Given the description of an element on the screen output the (x, y) to click on. 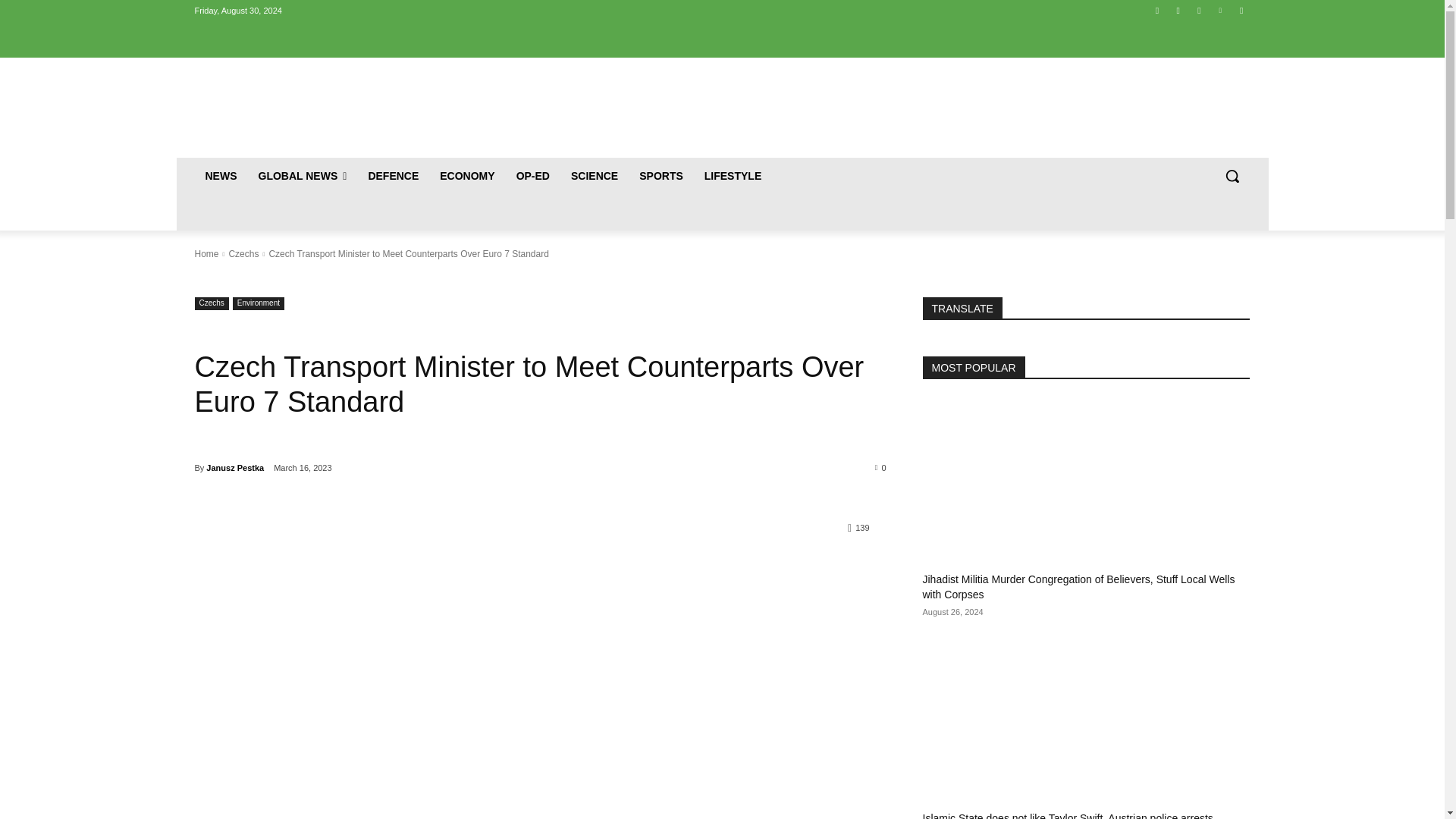
View all posts in Czechs (243, 253)
Instagram (1177, 9)
Youtube (1241, 9)
Twitter (1199, 9)
NEWS (220, 176)
GLOBAL NEWS (301, 176)
Facebook (1157, 9)
Vimeo (1219, 9)
